Given the description of an element on the screen output the (x, y) to click on. 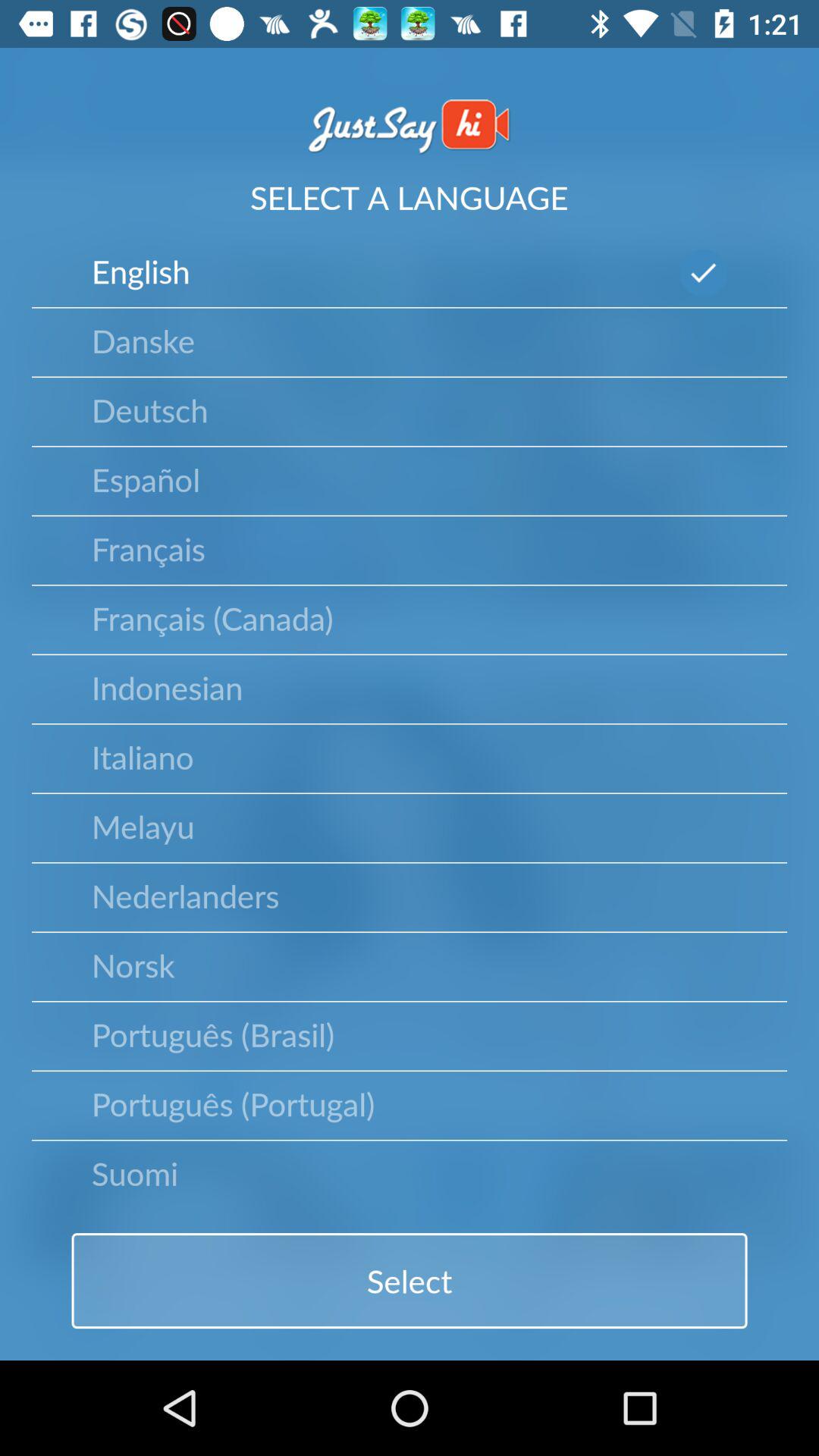
choose icon above nederlanders item (142, 826)
